Given the description of an element on the screen output the (x, y) to click on. 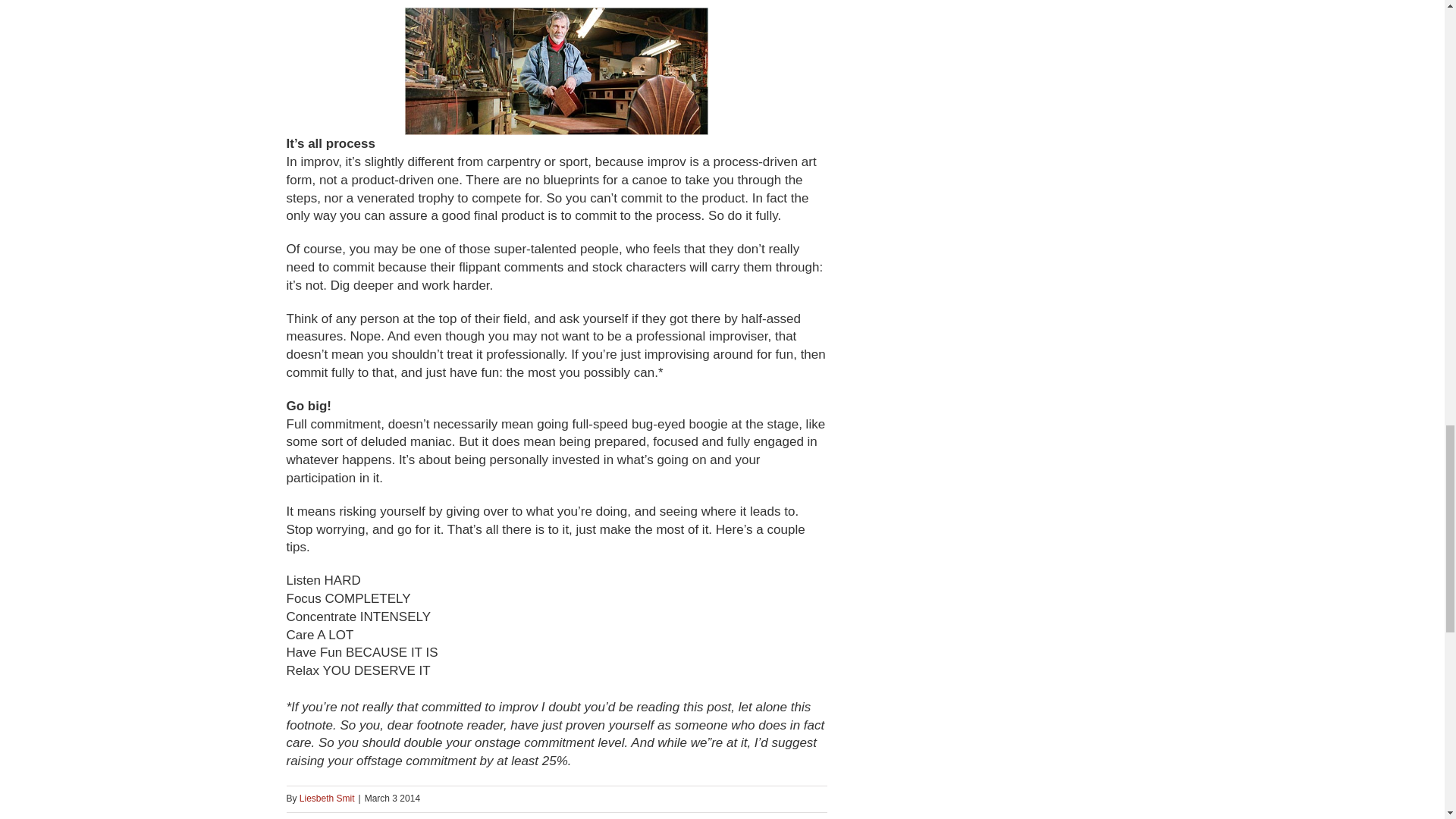
Liesbeth Smit (327, 798)
Posts by Liesbeth Smit (327, 798)
